Given the description of an element on the screen output the (x, y) to click on. 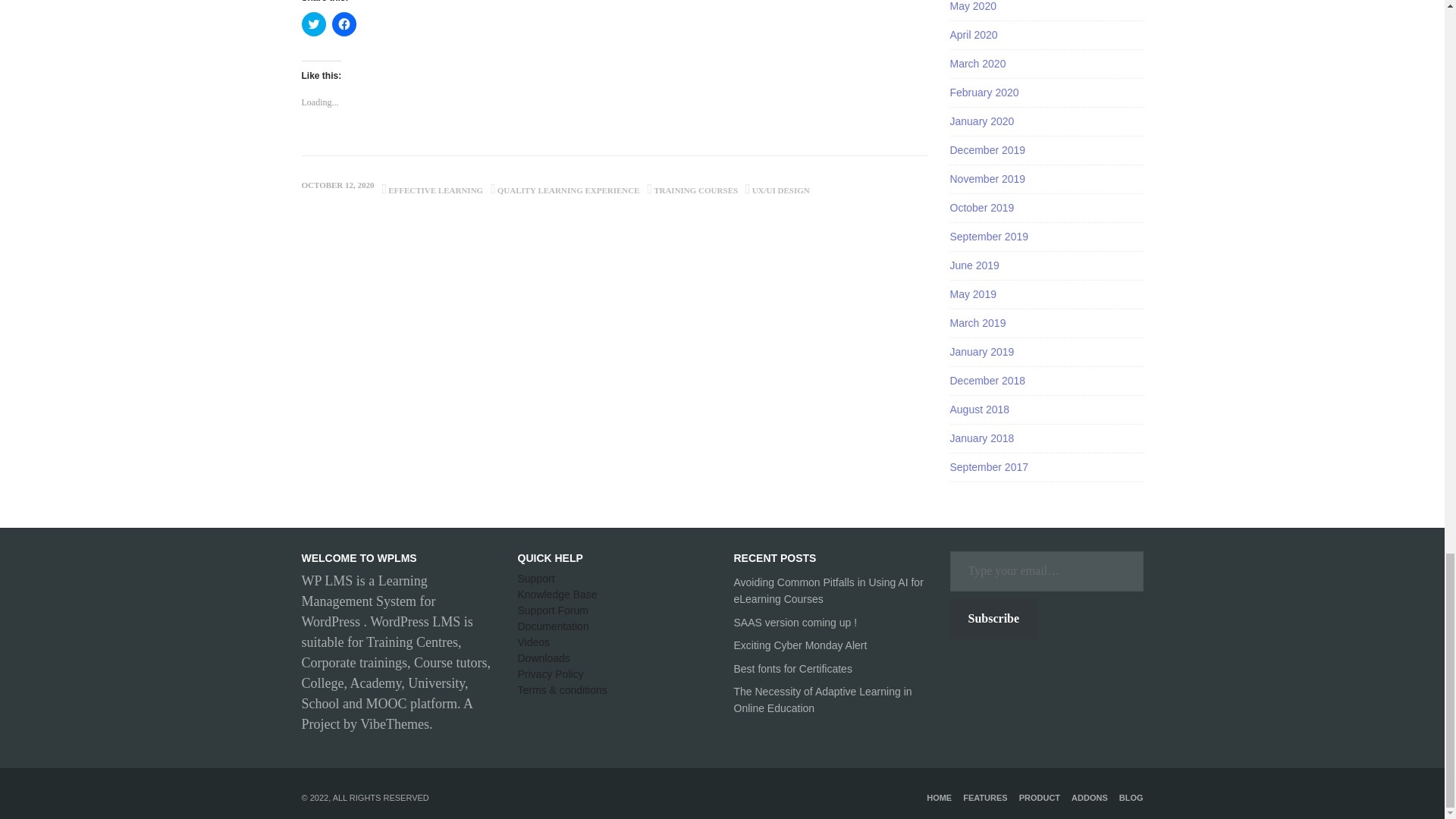
Click to share on Facebook (343, 24)
EFFECTIVE LEARNING (435, 189)
Click to share on Twitter (313, 24)
Please fill in this field. (1045, 571)
